Given the description of an element on the screen output the (x, y) to click on. 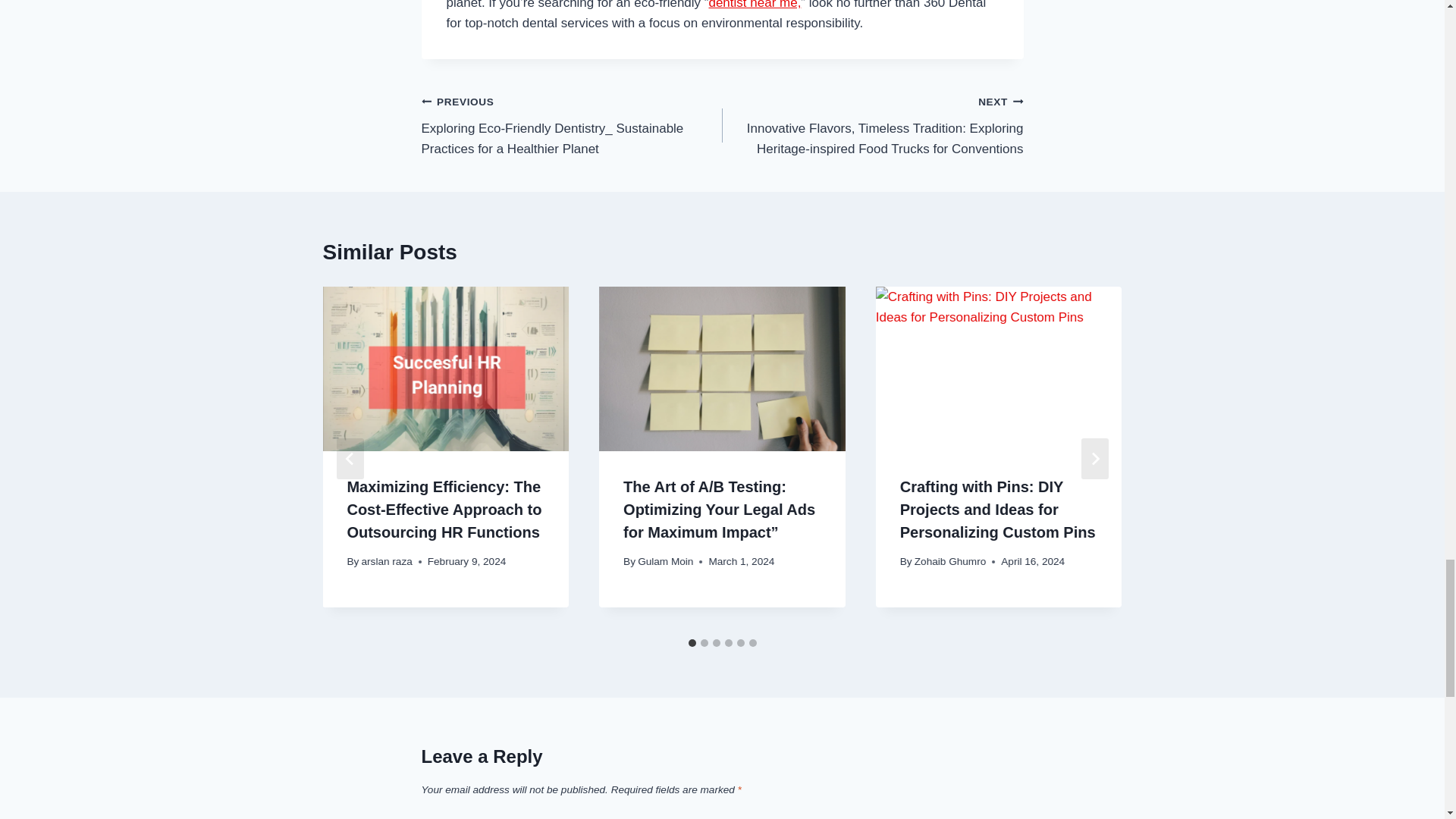
dentist near me, (753, 4)
